Given the description of an element on the screen output the (x, y) to click on. 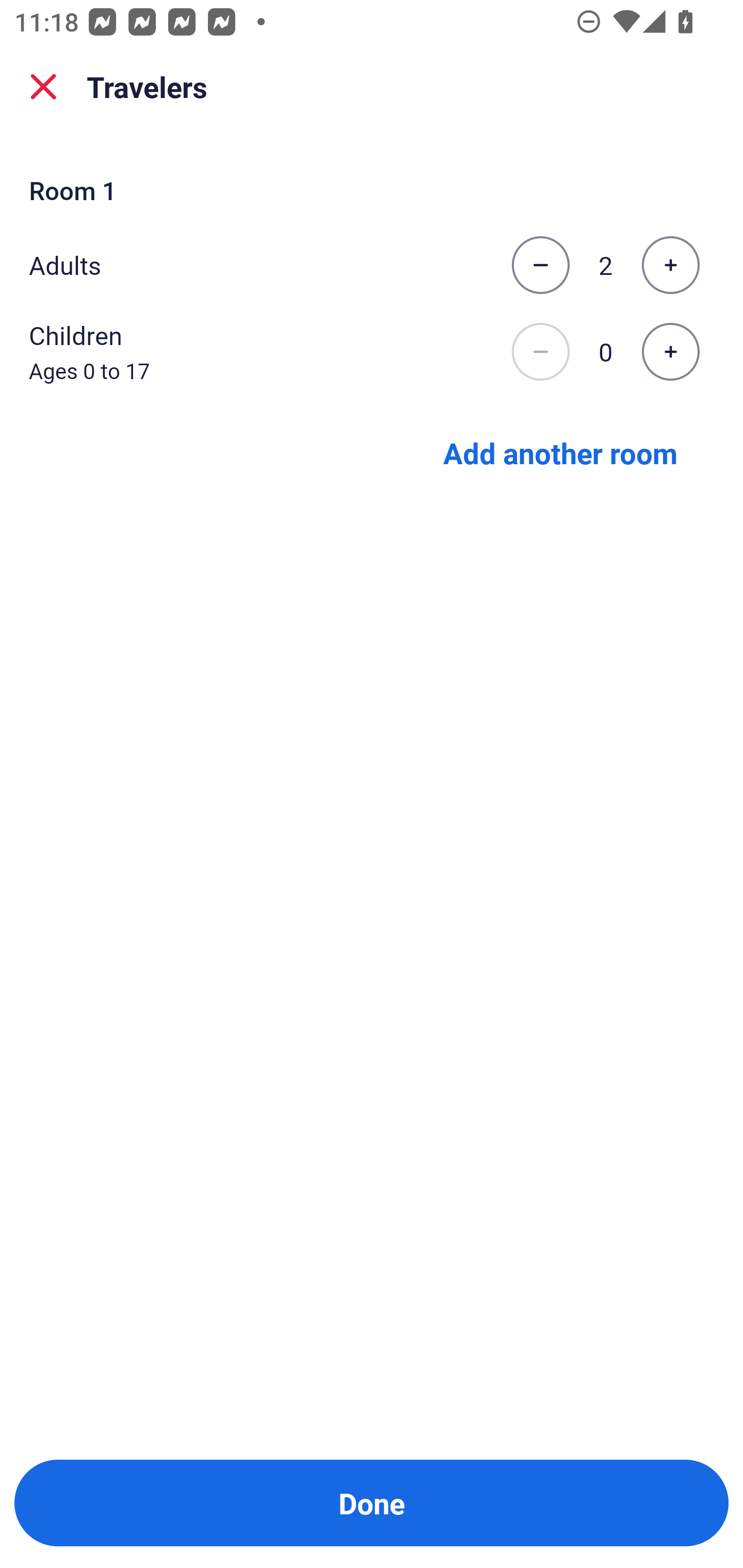
close (43, 86)
Decrease the number of adults (540, 264)
Increase the number of adults (670, 264)
Decrease the number of children (540, 351)
Increase the number of children (670, 351)
Add another room (560, 452)
Done (371, 1502)
